Given the description of an element on the screen output the (x, y) to click on. 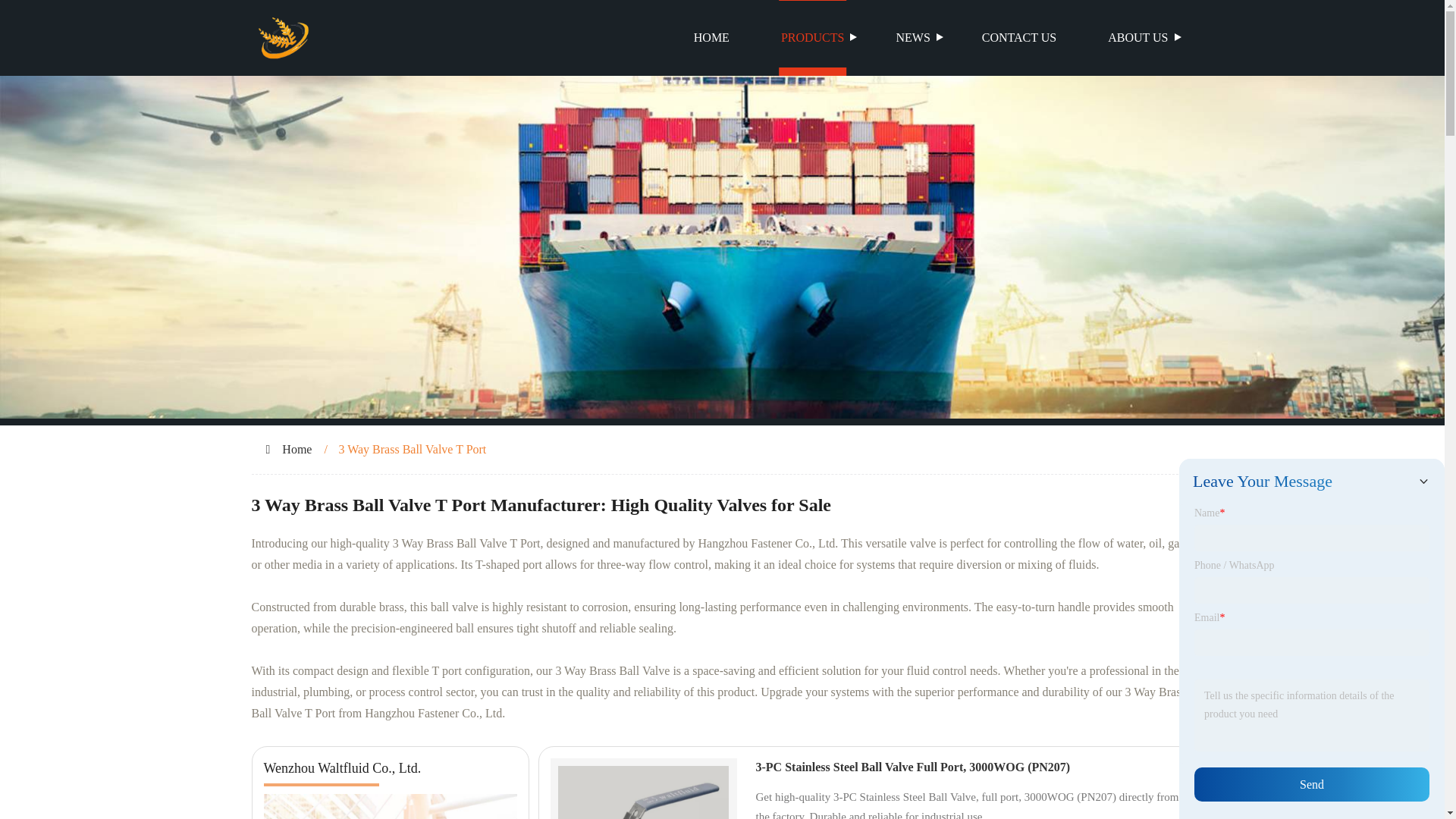
CONTACT US (1018, 38)
PRODUCTS (812, 38)
Home (296, 449)
